Given the description of an element on the screen output the (x, y) to click on. 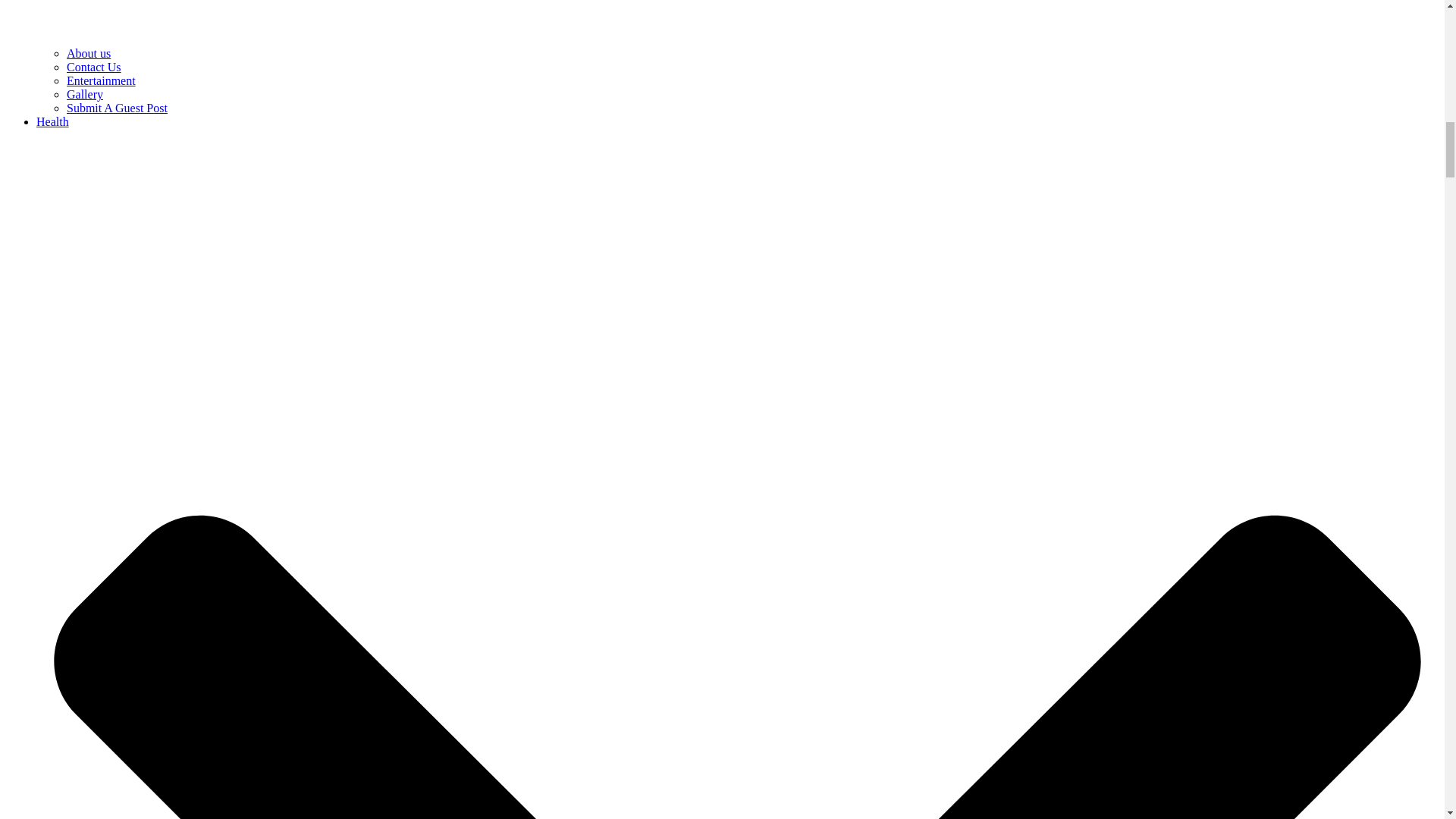
Submit A Guest Post (116, 107)
Submit A Guest Post (116, 107)
About us (88, 52)
About us (88, 52)
Gallery (84, 93)
Contact Us (93, 66)
Entertainment (100, 80)
Gallery (84, 93)
Contact Us (93, 66)
Entertainment (100, 80)
